Given the description of an element on the screen output the (x, y) to click on. 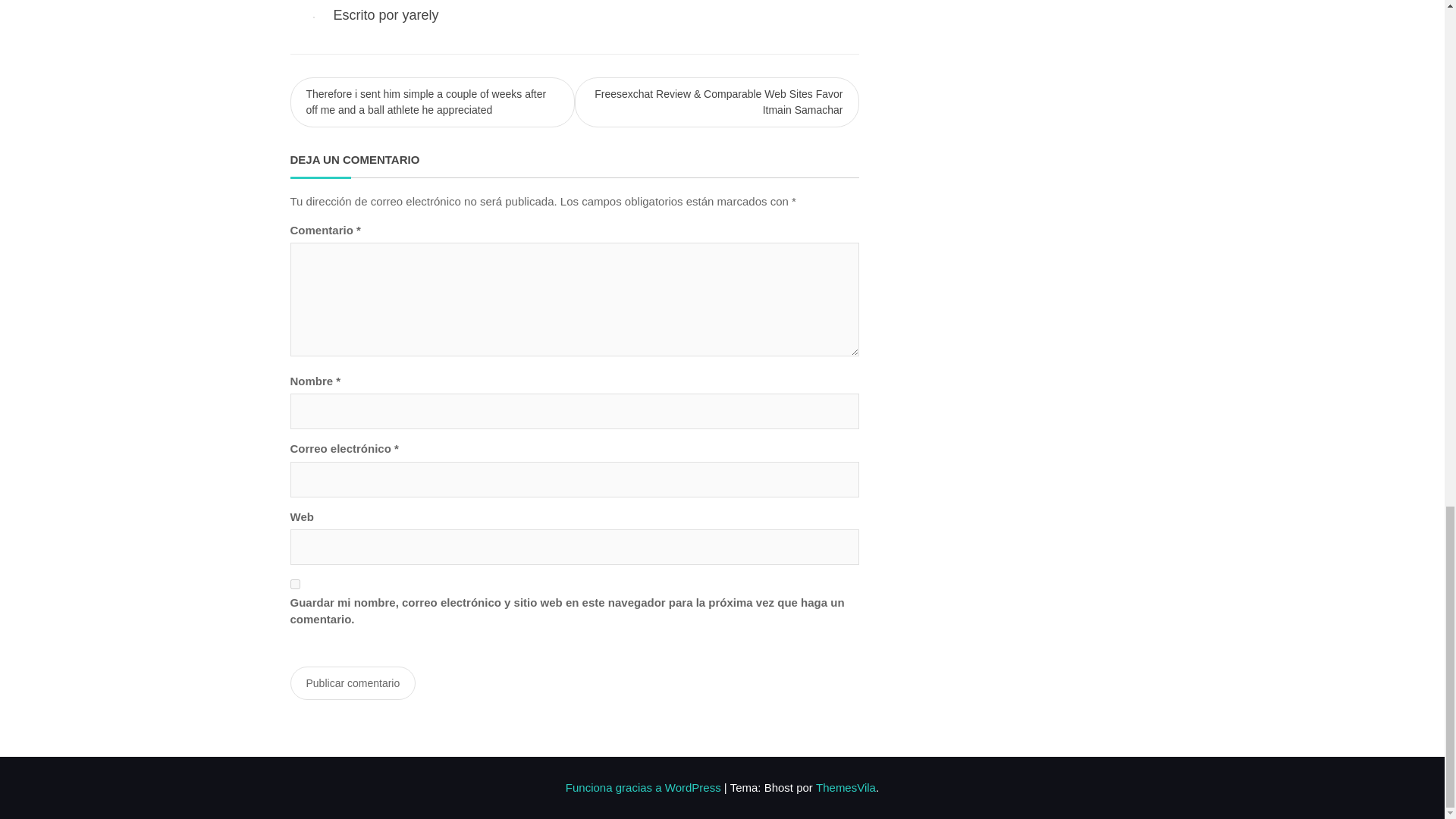
Publicar comentario (351, 683)
Funciona gracias a WordPress (643, 787)
Publicar comentario (351, 683)
ThemesVila (845, 787)
yes (294, 583)
